Given the description of an element on the screen output the (x, y) to click on. 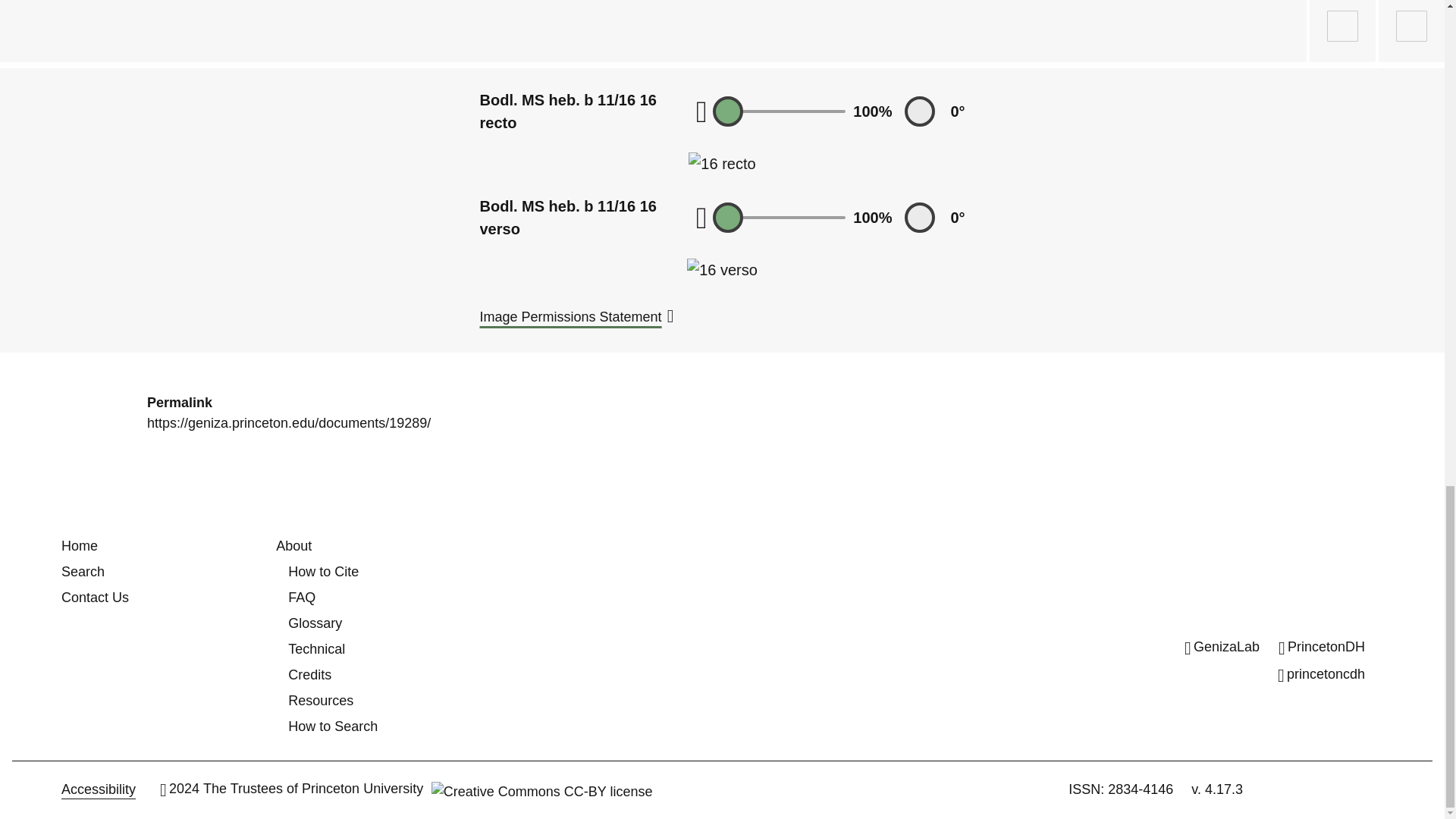
1 (779, 111)
1 (779, 217)
16 verso (722, 269)
16 recto (721, 163)
